Given the description of an element on the screen output the (x, y) to click on. 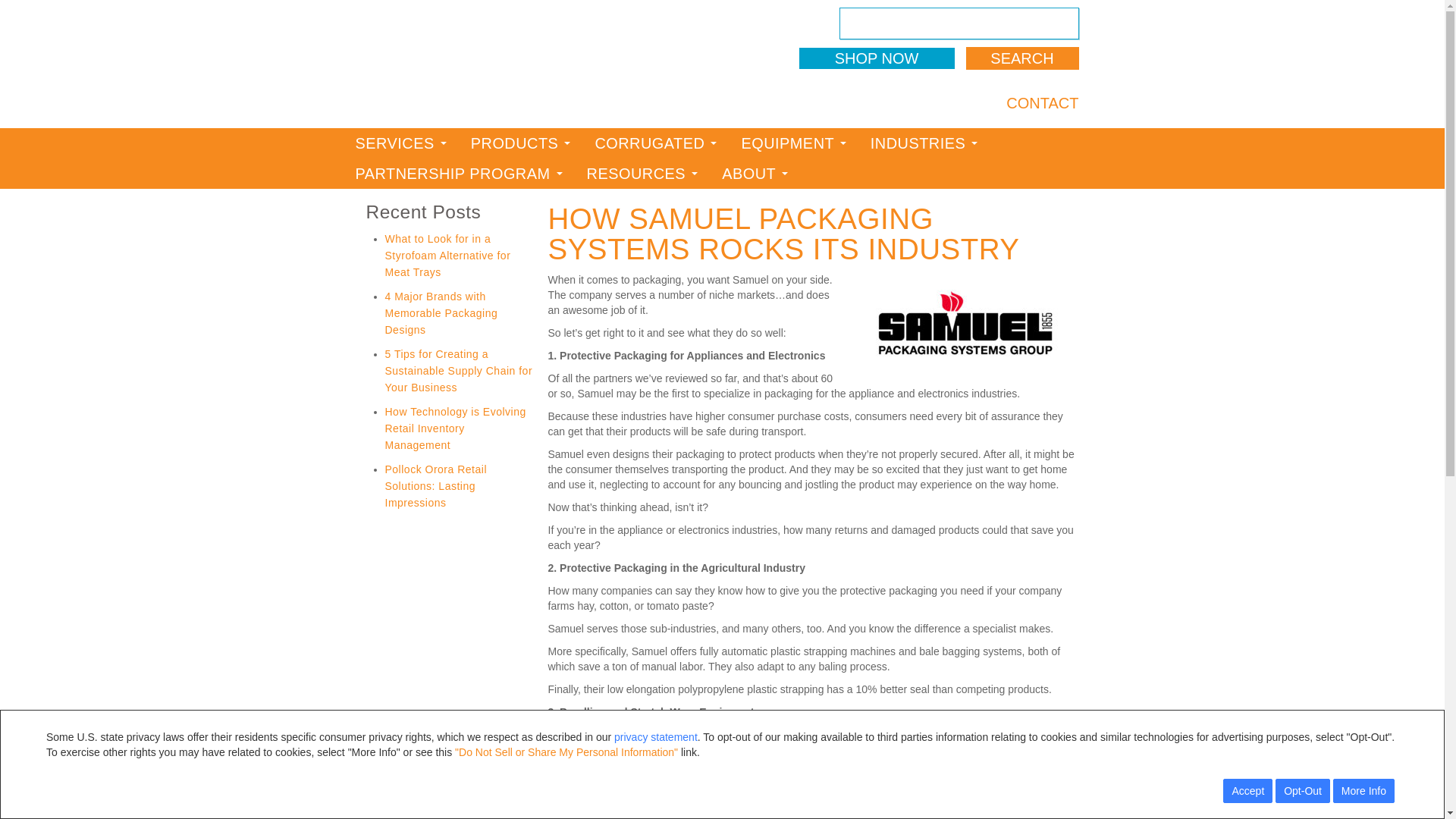
Instagram (989, 101)
Twitter (917, 101)
CONTACT (1042, 103)
PRODUCTS (520, 142)
Facebook (893, 101)
EQUIPMENT (793, 142)
YouTube (966, 101)
CORRUGATED (655, 142)
LinkedIn (941, 101)
Pollock Orora (468, 63)
Search (1022, 57)
INDUSTRIES (924, 142)
SHOP NOW (877, 57)
SERVICES (400, 142)
Search (1022, 57)
